Given the description of an element on the screen output the (x, y) to click on. 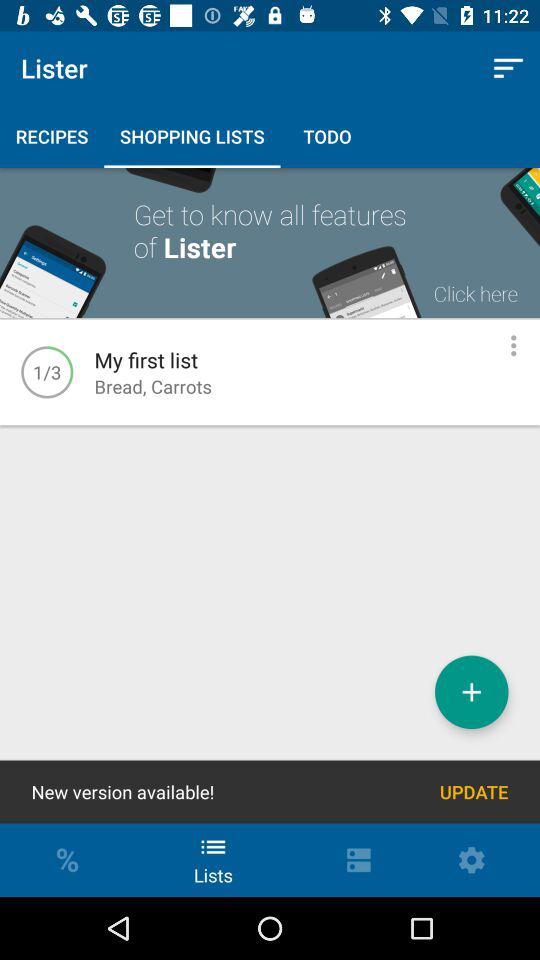
open menu (513, 345)
